Given the description of an element on the screen output the (x, y) to click on. 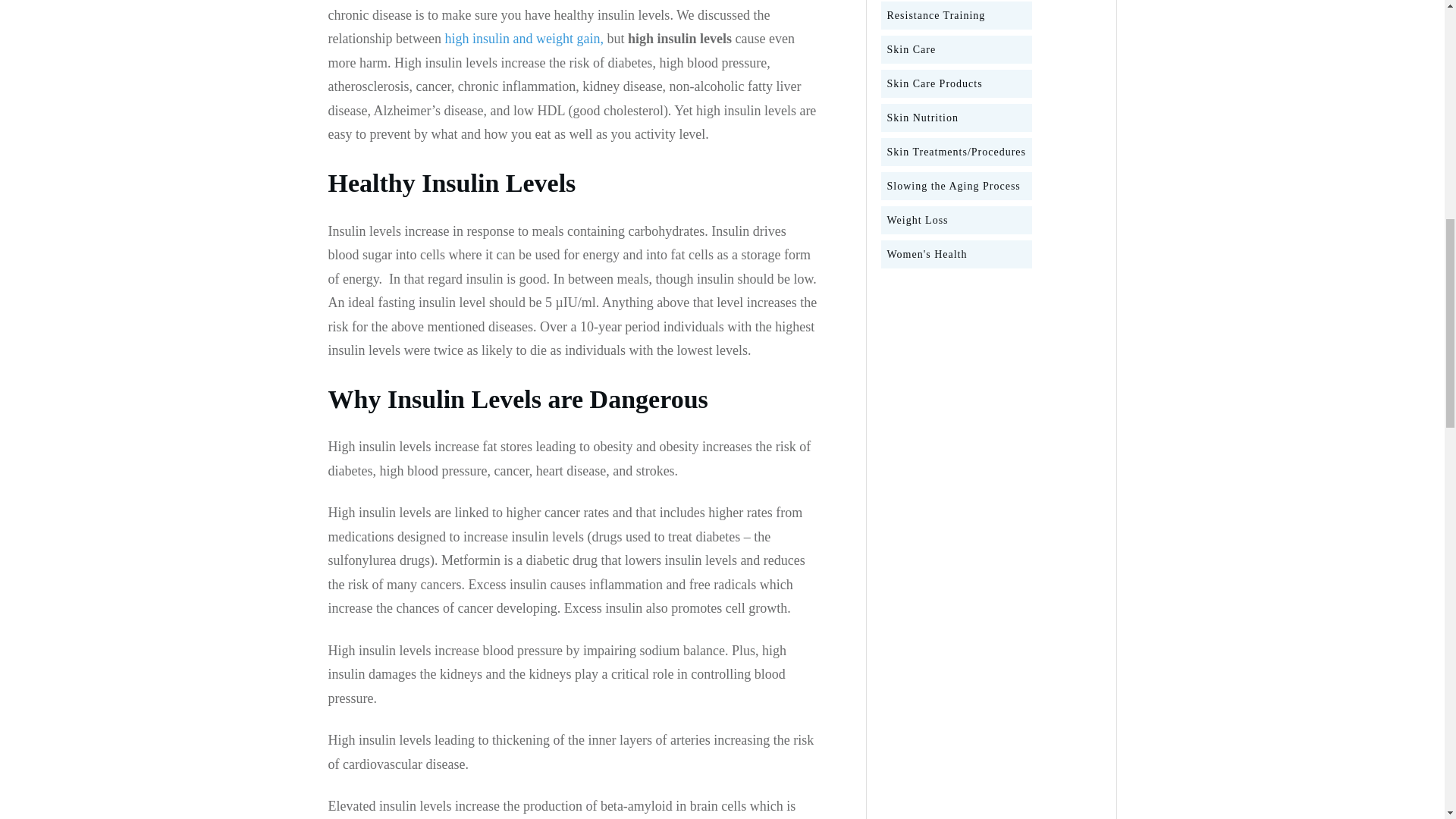
high insulin and weight gain, (523, 38)
